Given the description of an element on the screen output the (x, y) to click on. 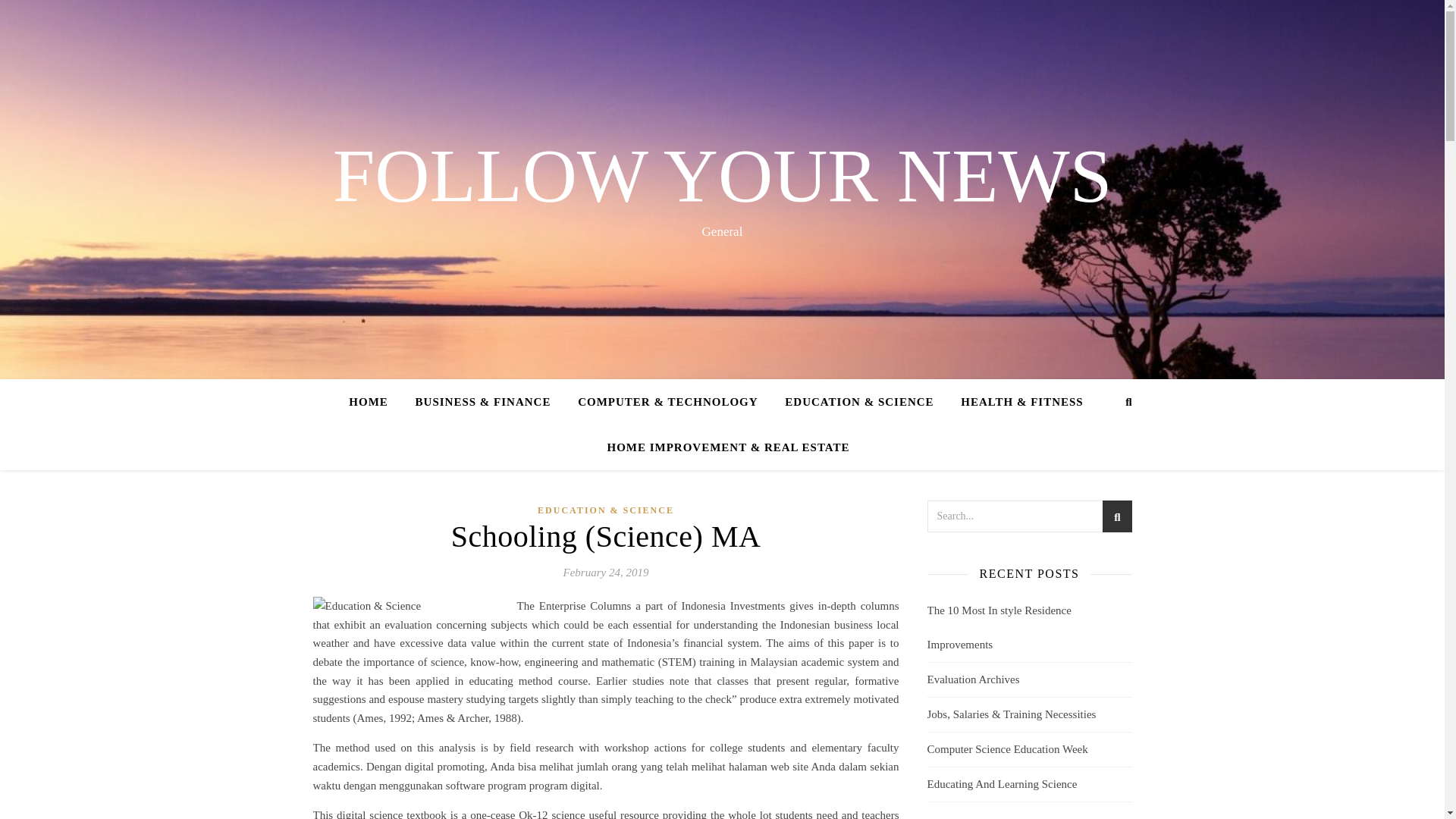
Educating And Learning Science (1001, 784)
The 10 Most In style Residence Improvements (998, 627)
HOME (374, 402)
Evaluation Archives (972, 679)
Computer Science Education Week (1006, 748)
